Given the description of an element on the screen output the (x, y) to click on. 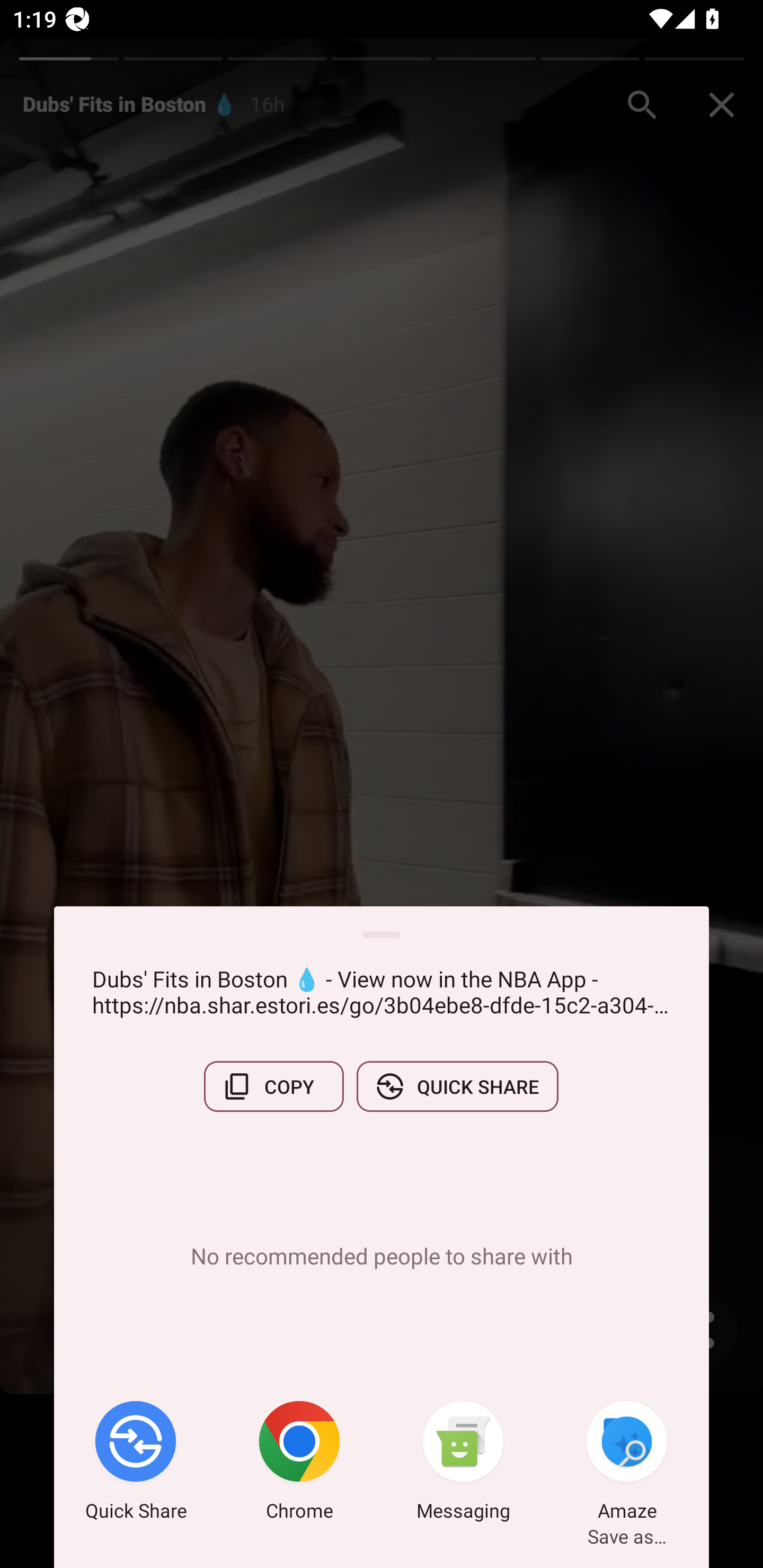
COPY (273, 1086)
QUICK SHARE (457, 1086)
Quick Share (135, 1463)
Chrome (299, 1463)
Messaging (463, 1463)
Amaze Save as… (626, 1463)
